Given the description of an element on the screen output the (x, y) to click on. 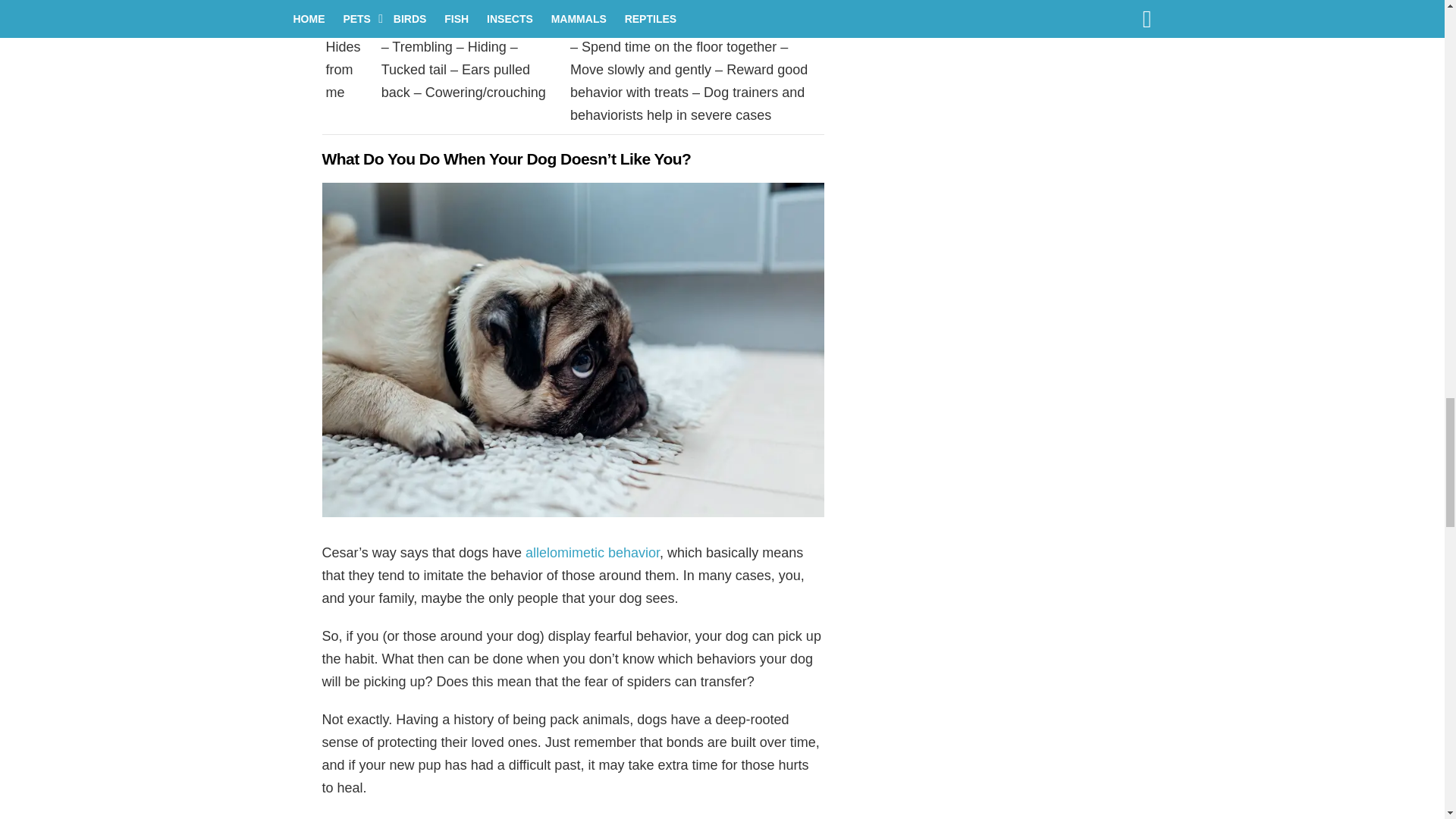
allelomimetic behavior (592, 552)
